Given the description of an element on the screen output the (x, y) to click on. 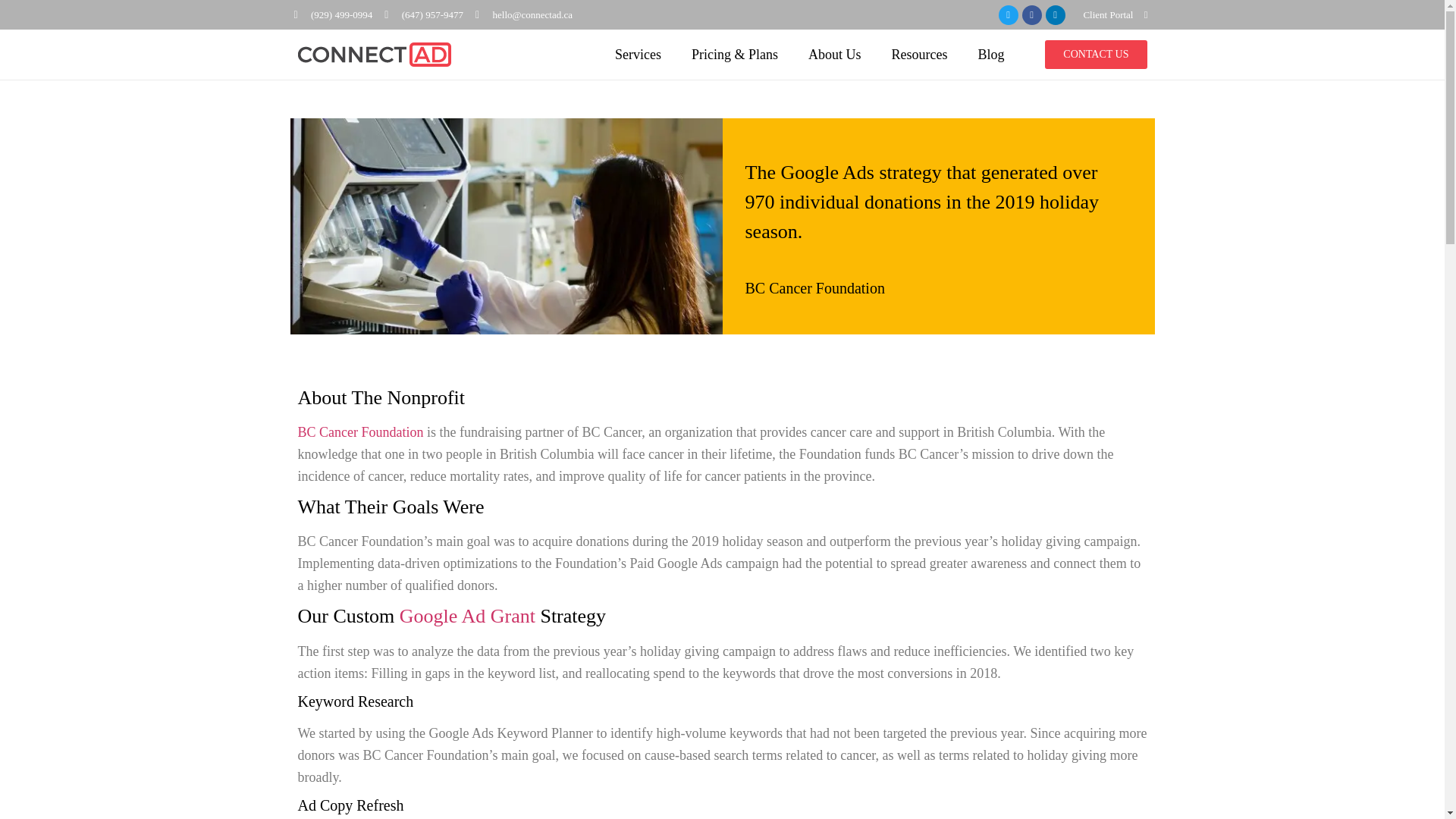
Resources (919, 54)
Services (638, 54)
About Us (834, 54)
national-cancer-institute-GcrSgHDrniY-unsplash (505, 225)
Client Portal (1107, 14)
Blog (990, 54)
